Given the description of an element on the screen output the (x, y) to click on. 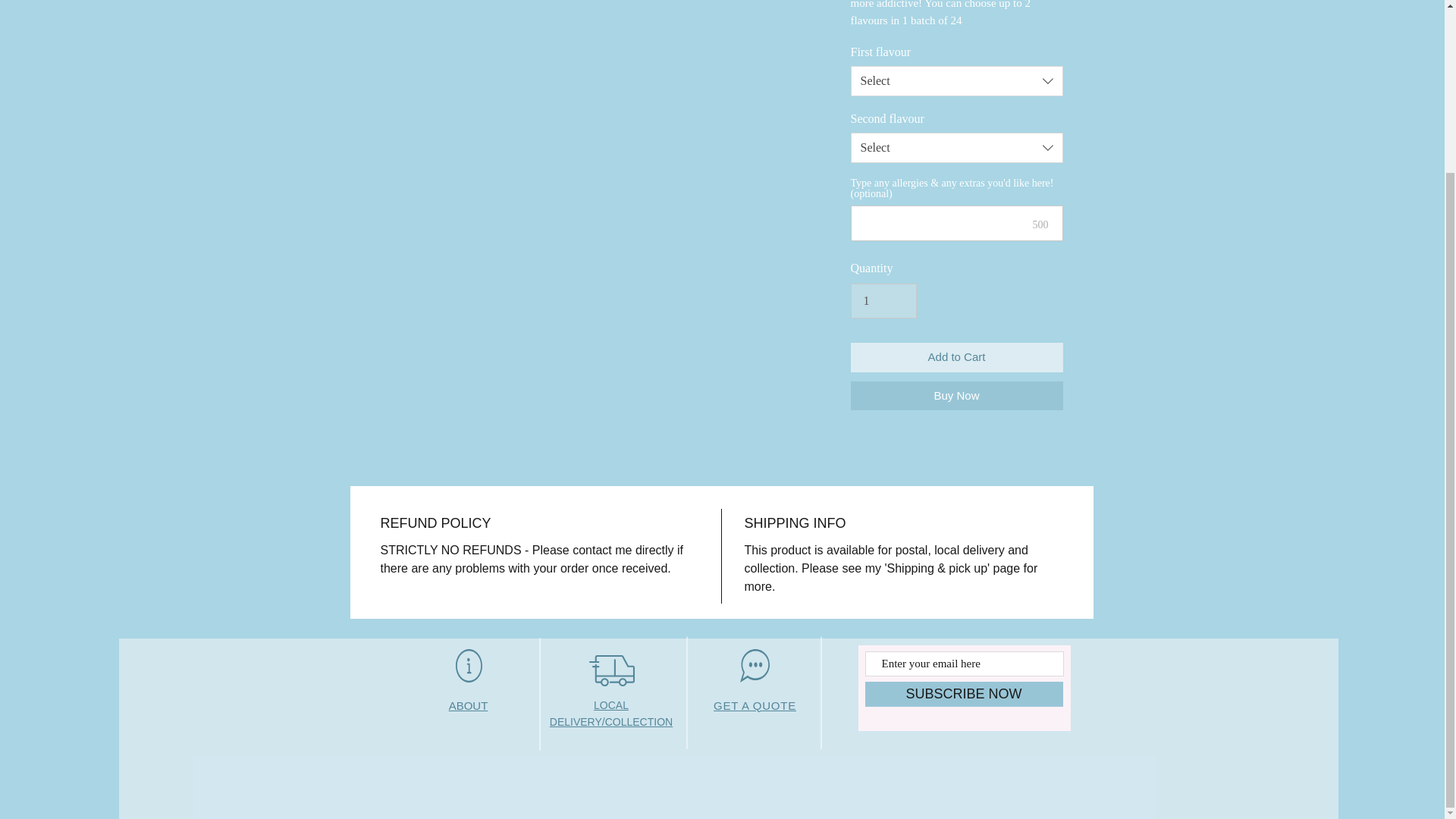
ABOUT (467, 705)
Buy Now (956, 395)
Select (956, 147)
Select (956, 81)
GET A QUOTE (754, 705)
SUBSCRIBE NOW (963, 693)
Add to Cart (956, 357)
1 (883, 300)
